Given the description of an element on the screen output the (x, y) to click on. 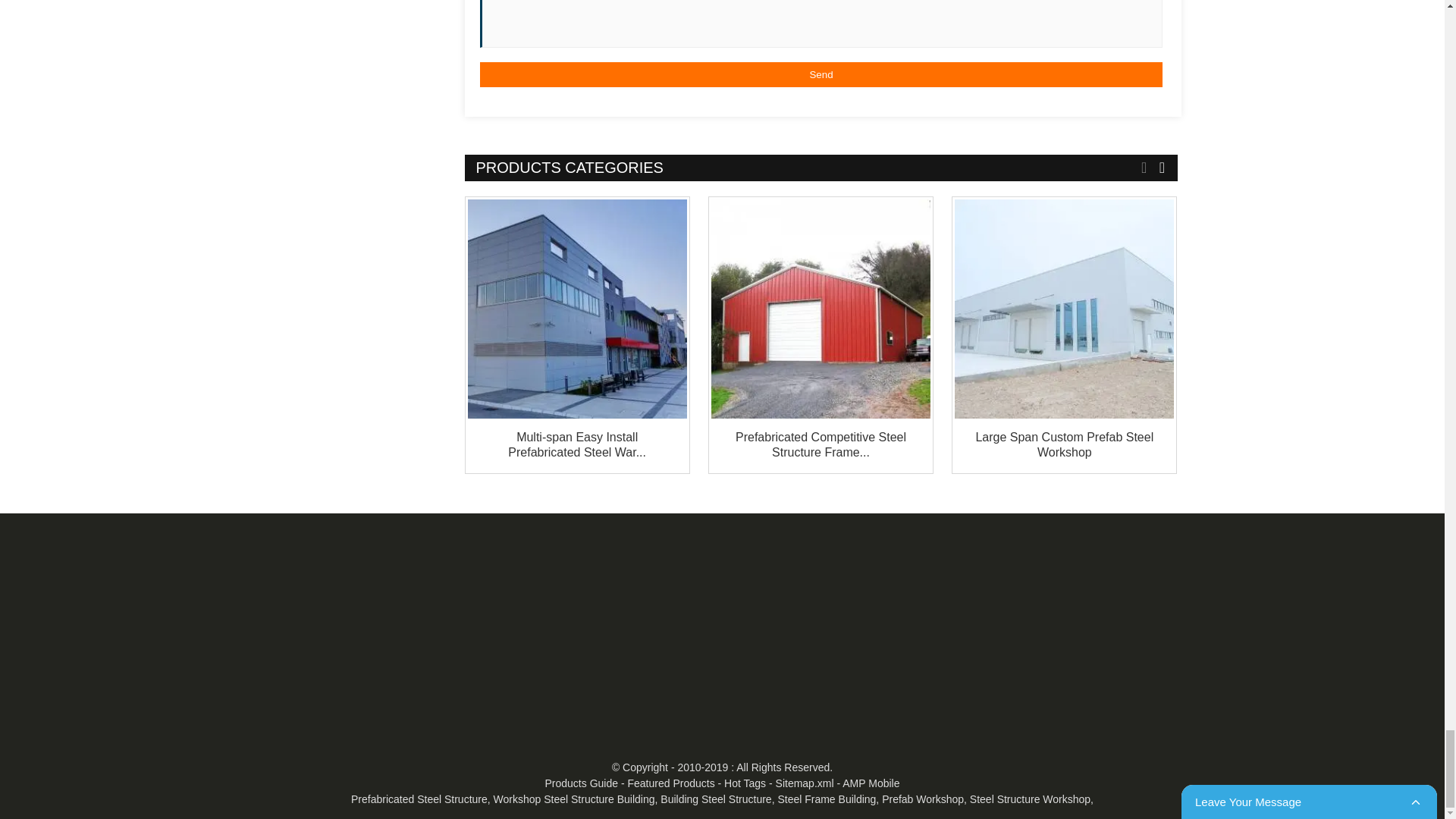
Large Span Custom Prefab Steel Workshop (1064, 443)
Multi-span Easy Install Prefabricated Steel Warehouse (576, 443)
Large Span Custom Prefab Steel Workshop (1064, 308)
Prefabricated Competitive Steel Structure Frame Building (820, 308)
Multi-span Easy Install Prefabricated Steel Warehouse (576, 308)
Building Steel Structure (716, 799)
Prefabricated Steel Structure (418, 799)
Prefabricated Competitive Steel Structure Frame Building (821, 443)
Workshop Steel Structure Building (574, 799)
